Given the description of an element on the screen output the (x, y) to click on. 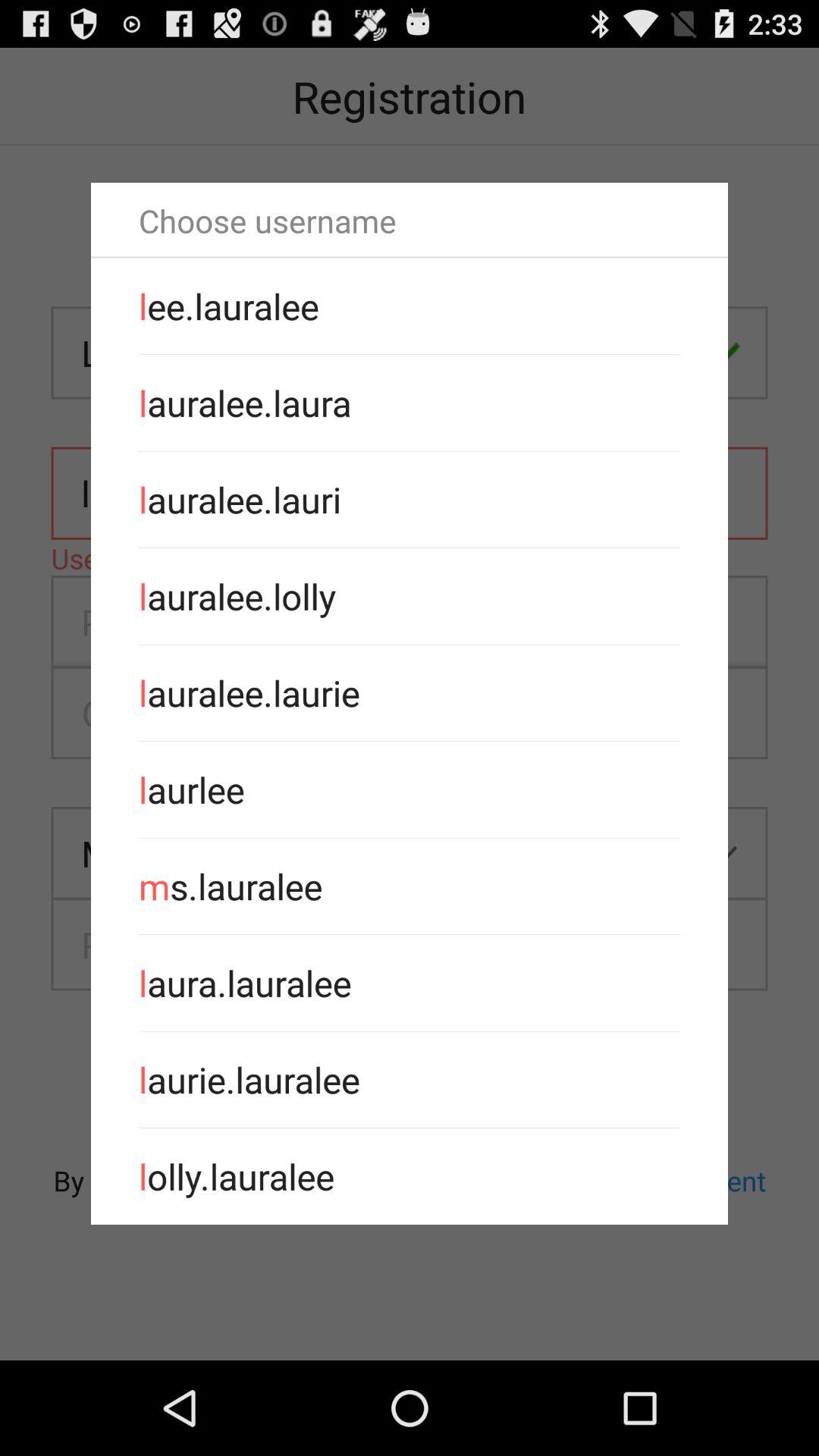
swipe until the laurlee item (409, 789)
